Given the description of an element on the screen output the (x, y) to click on. 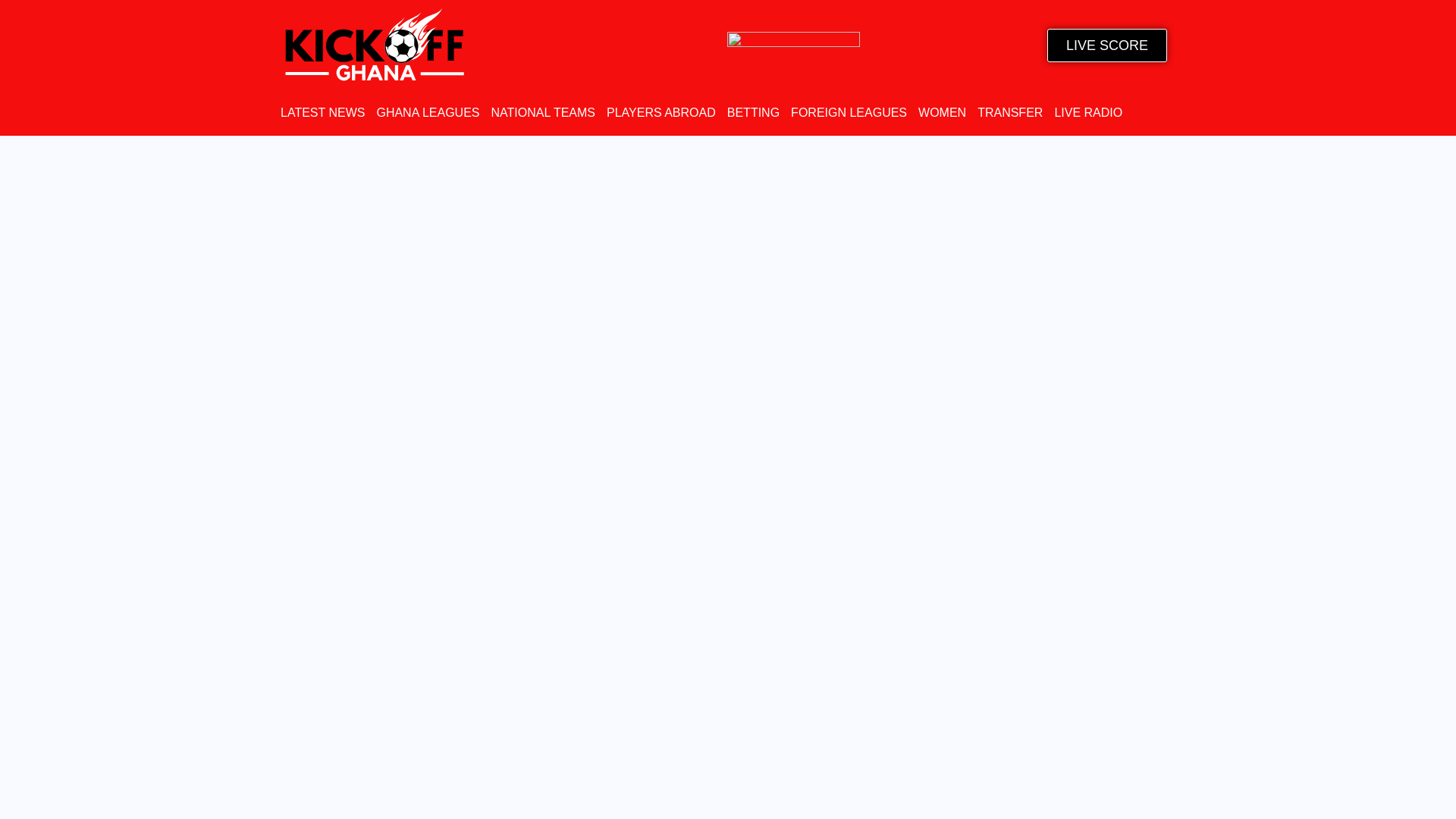
GHANA LEAGUES (427, 112)
LIVE SCORE (1106, 45)
FOREIGN LEAGUES (848, 112)
LIVE RADIO (1088, 112)
PLAYERS ABROAD (661, 112)
BETTING (752, 112)
gsn-radio - Kickoffghana.com (793, 44)
kickofghana-logo - Kickoffghana.com (373, 44)
TRANSFER (1009, 112)
WOMEN (942, 112)
NATIONAL TEAMS (542, 112)
LATEST NEWS (323, 112)
